Given the description of an element on the screen output the (x, y) to click on. 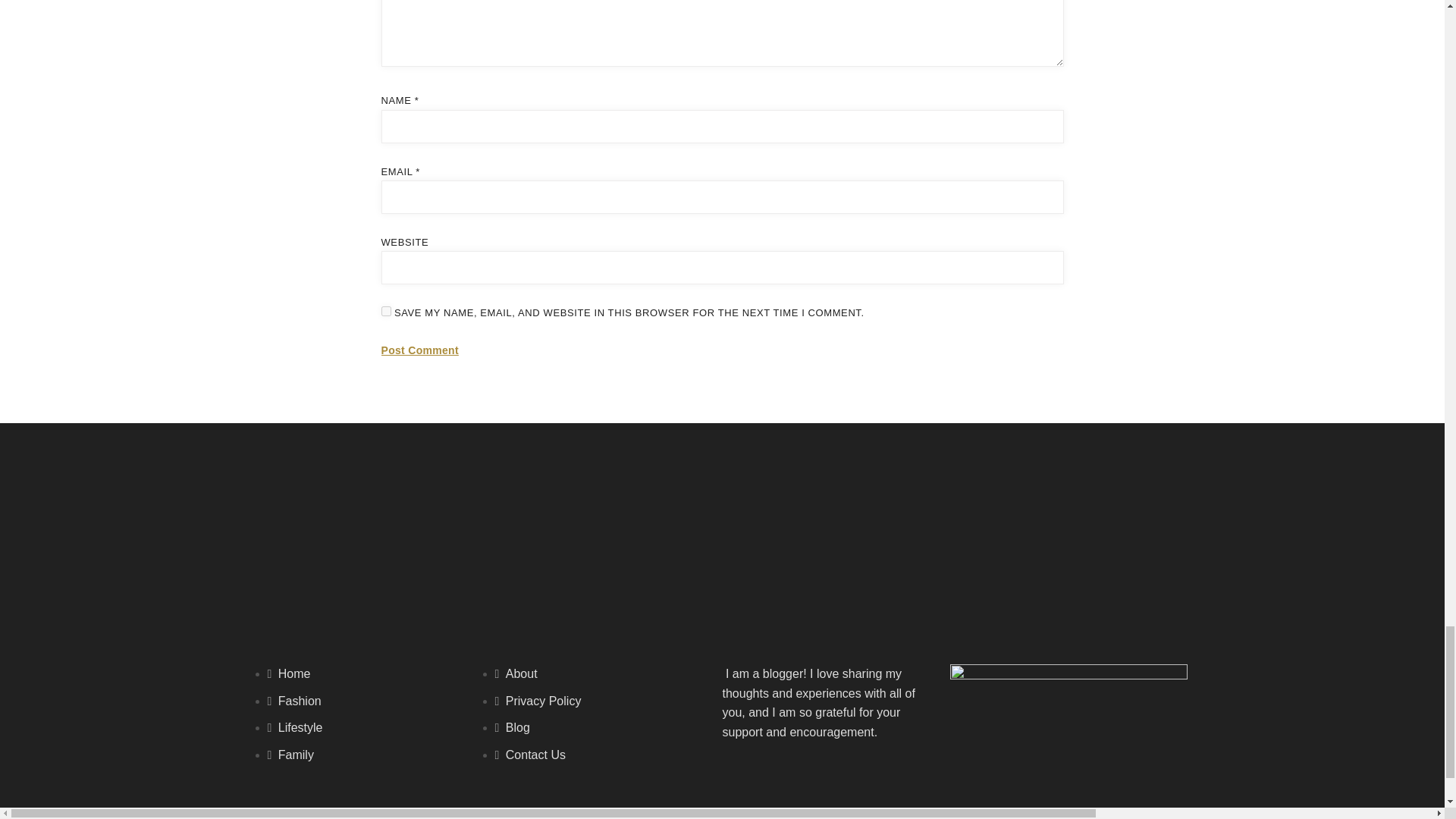
yes (385, 311)
Post Comment (419, 350)
Post Comment (419, 350)
